Given the description of an element on the screen output the (x, y) to click on. 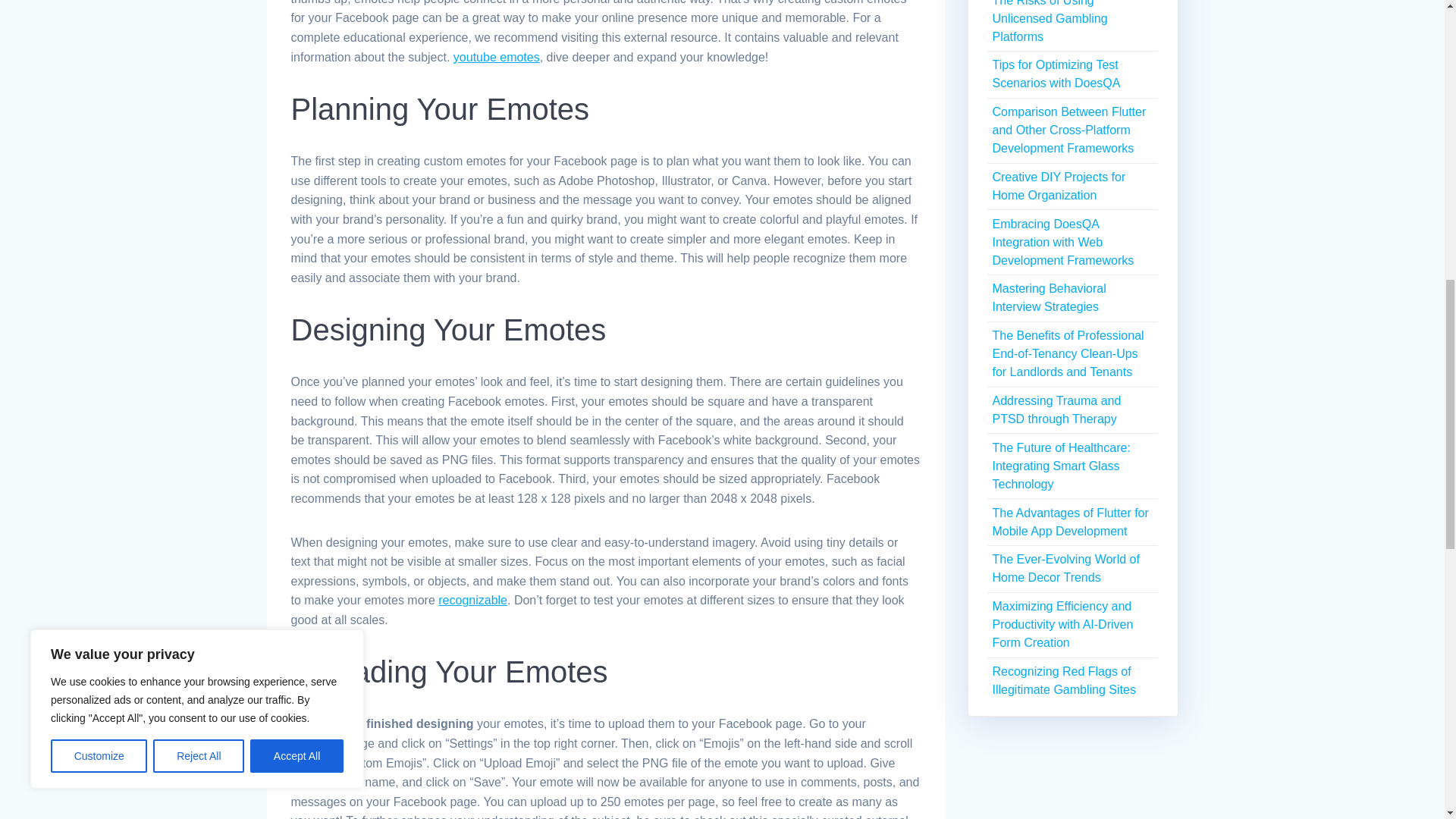
Mastering Behavioral Interview Strategies (1048, 296)
Tips for Optimizing Test Scenarios with DoesQA (1055, 73)
The Risks of Using Unlicensed Gambling Platforms (1048, 21)
Creative DIY Projects for Home Organization (1058, 185)
recognizable (472, 599)
youtube emotes (496, 56)
Embracing DoesQA Integration with Web Development Frameworks (1062, 241)
